Given the description of an element on the screen output the (x, y) to click on. 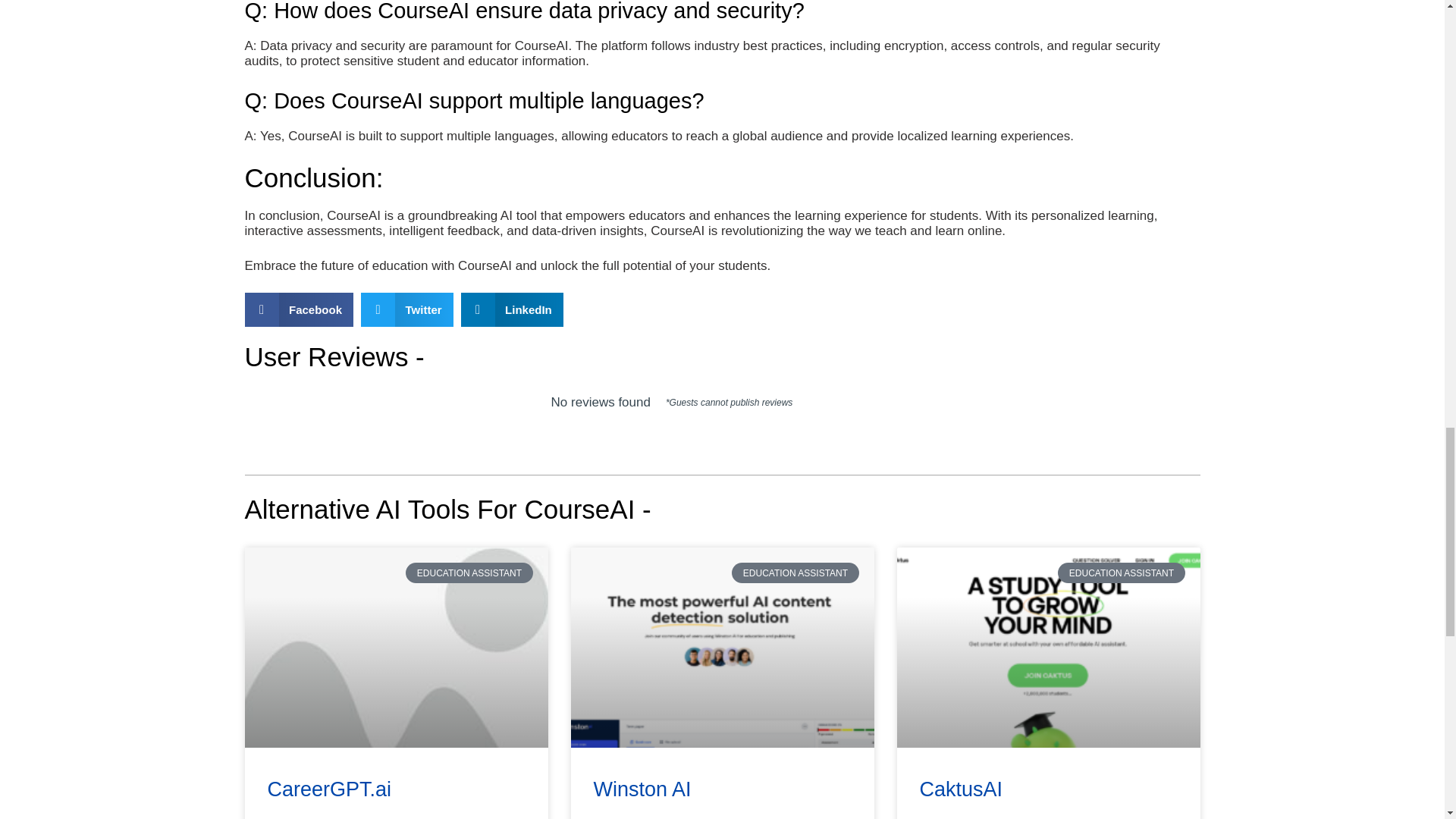
CaktusAI (960, 789)
Winston AI (641, 789)
CareerGPT.ai (328, 789)
